Given the description of an element on the screen output the (x, y) to click on. 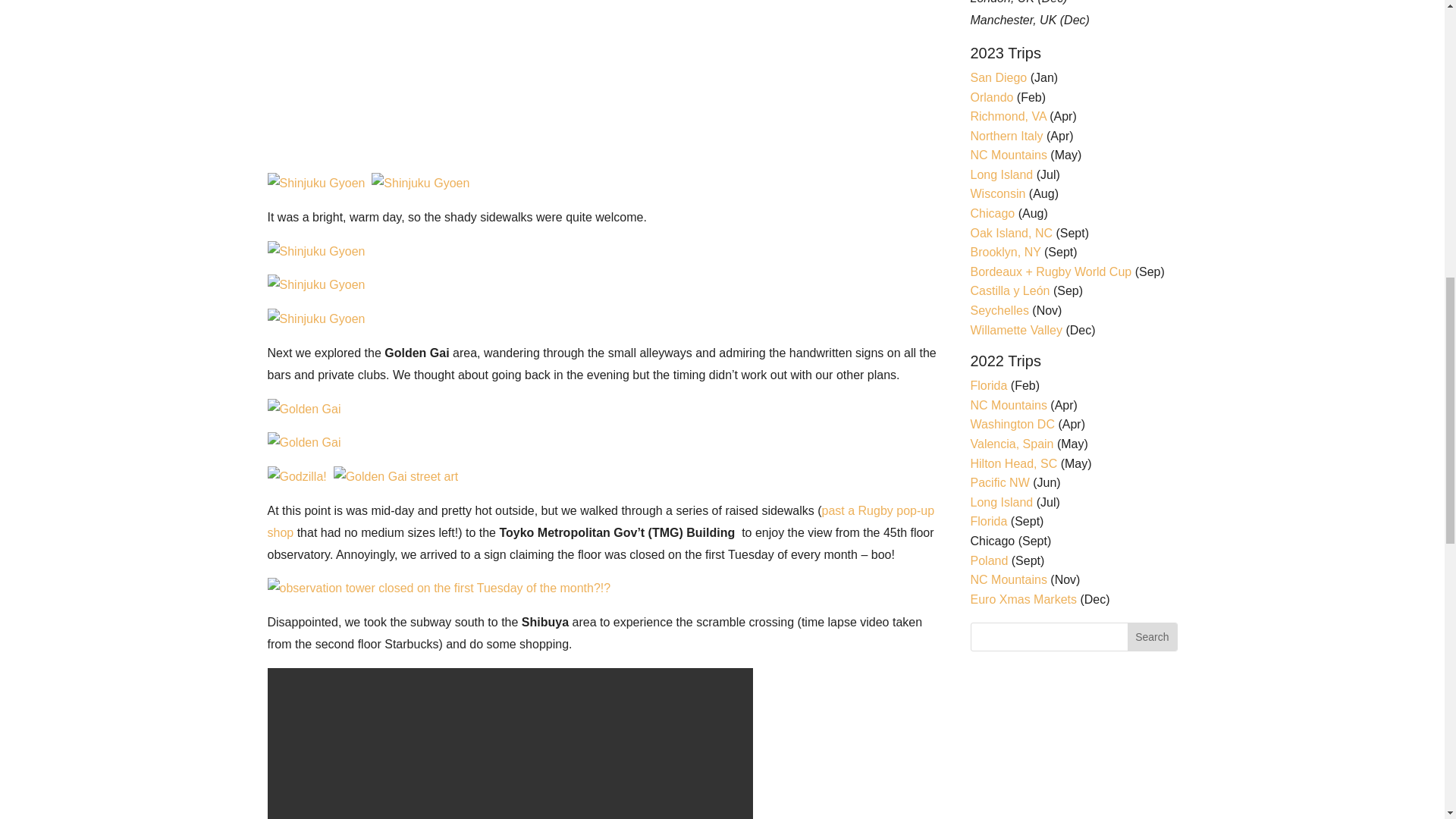
Search (1151, 636)
Shinjuku Gyoen (509, 76)
Shinjuku Gyoen (315, 182)
Shinjuku Gyoen (315, 284)
Shinjuku Gyoen (315, 251)
Shinjuku Gyoen (315, 285)
Shinjuku Gyoen (315, 183)
Shinjuku Gyoen (419, 183)
Shinjuku Gyoen (315, 319)
